Given the description of an element on the screen output the (x, y) to click on. 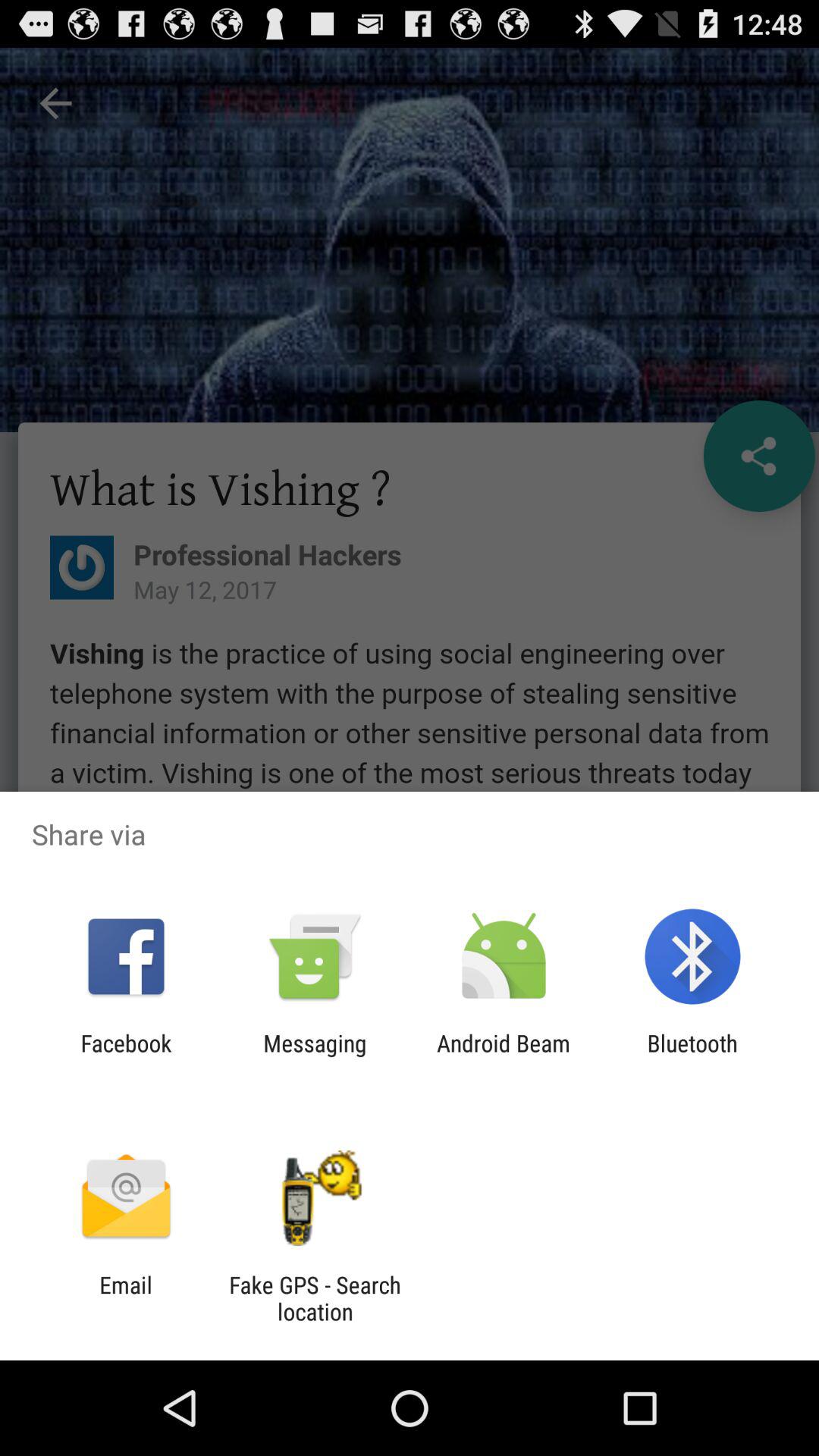
flip until the android beam app (503, 1056)
